Given the description of an element on the screen output the (x, y) to click on. 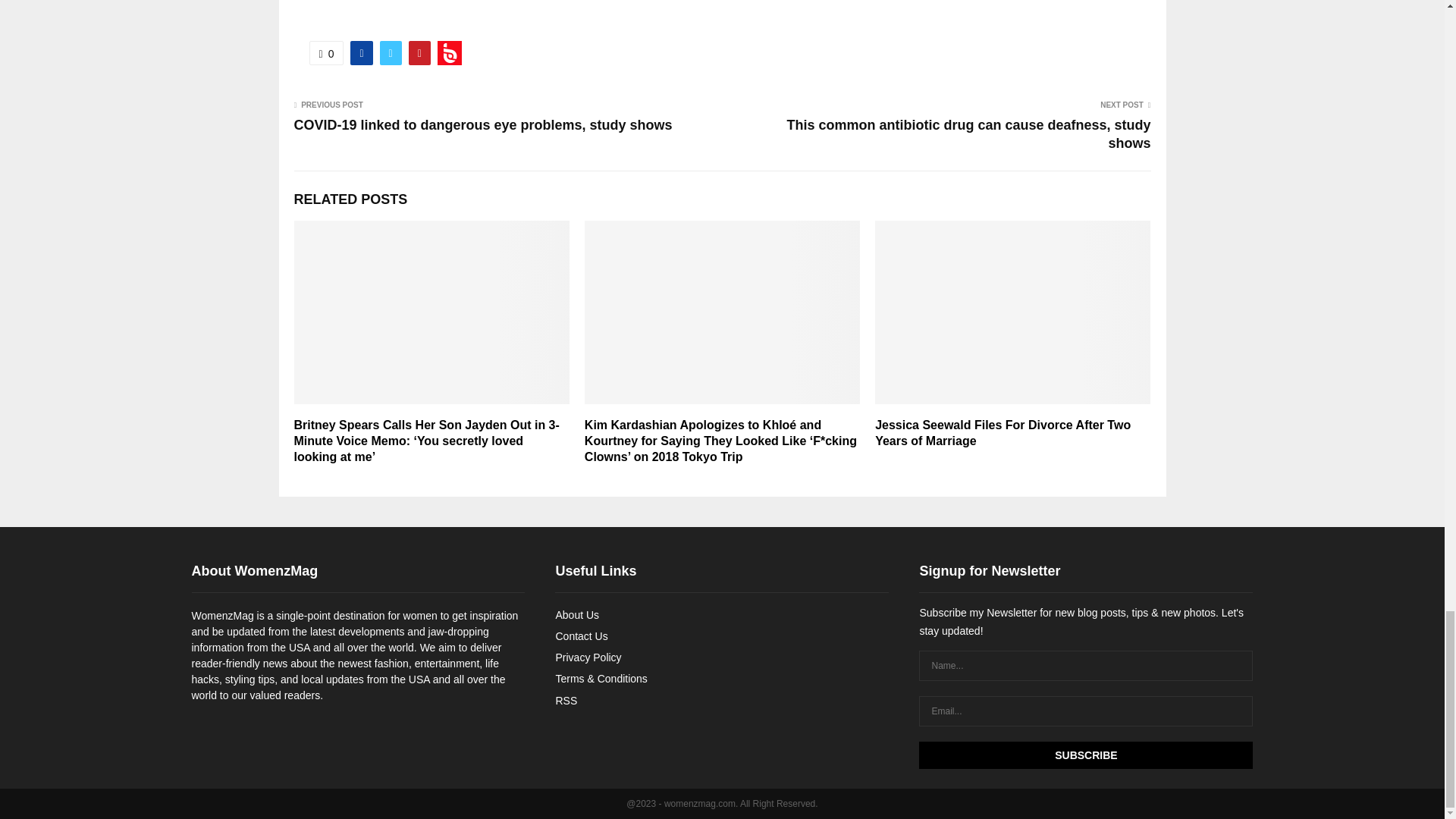
Like (325, 52)
0 (325, 52)
Subscribe (1085, 755)
This common antibiotic drug can cause deafness, study shows (968, 133)
COVID-19 linked to dangerous eye problems, study shows (483, 124)
